Given the description of an element on the screen output the (x, y) to click on. 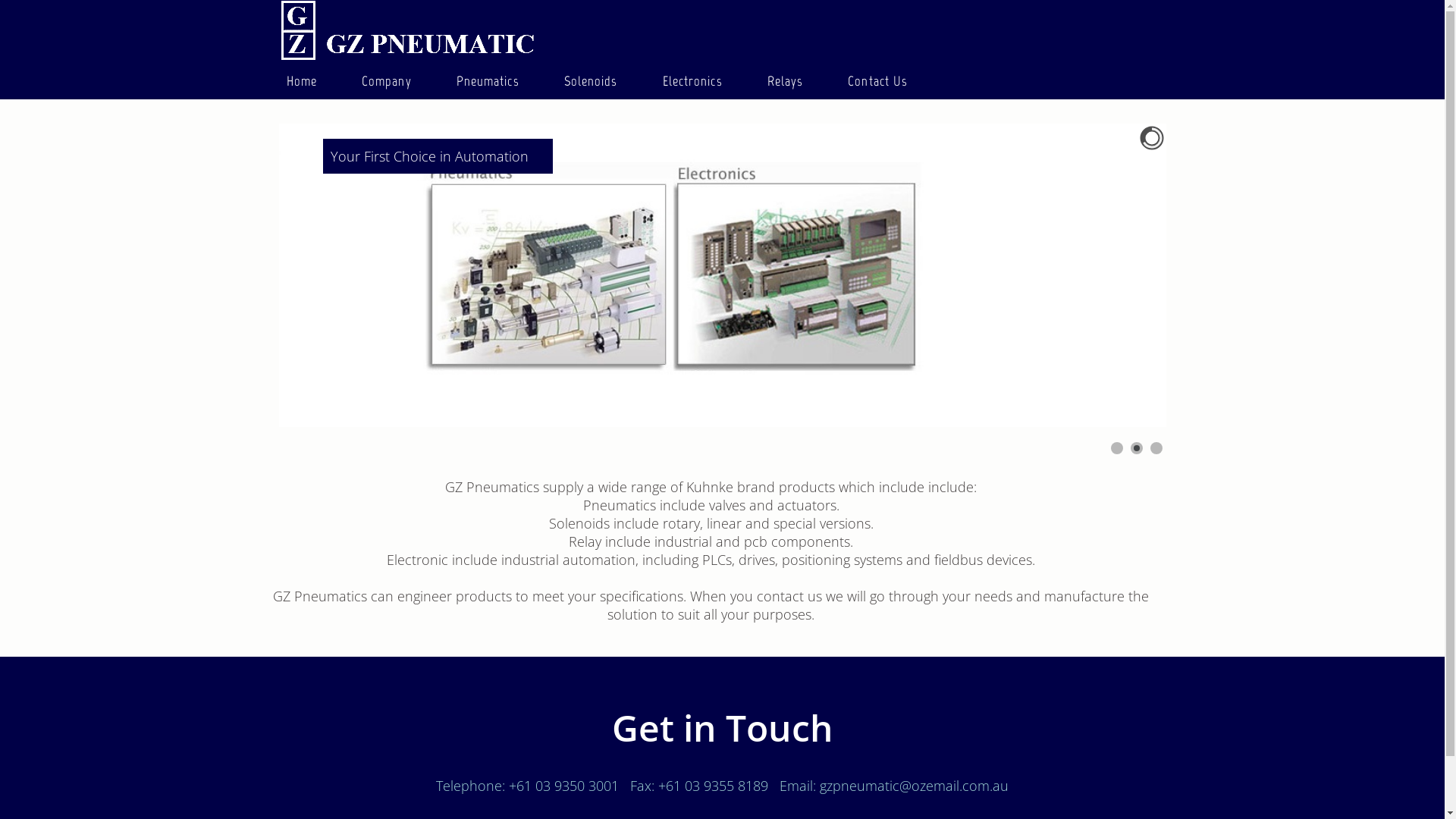
Relays Element type: text (785, 79)
Electronics Element type: text (692, 79)
Solenoids Element type: text (590, 79)
Company Element type: text (386, 79)
Home Element type: text (301, 79)
Contact Us Element type: text (877, 79)
gzpneumatic@ozemail.com.au Element type: text (913, 785)
Pneumatics Element type: text (487, 79)
